Given the description of an element on the screen output the (x, y) to click on. 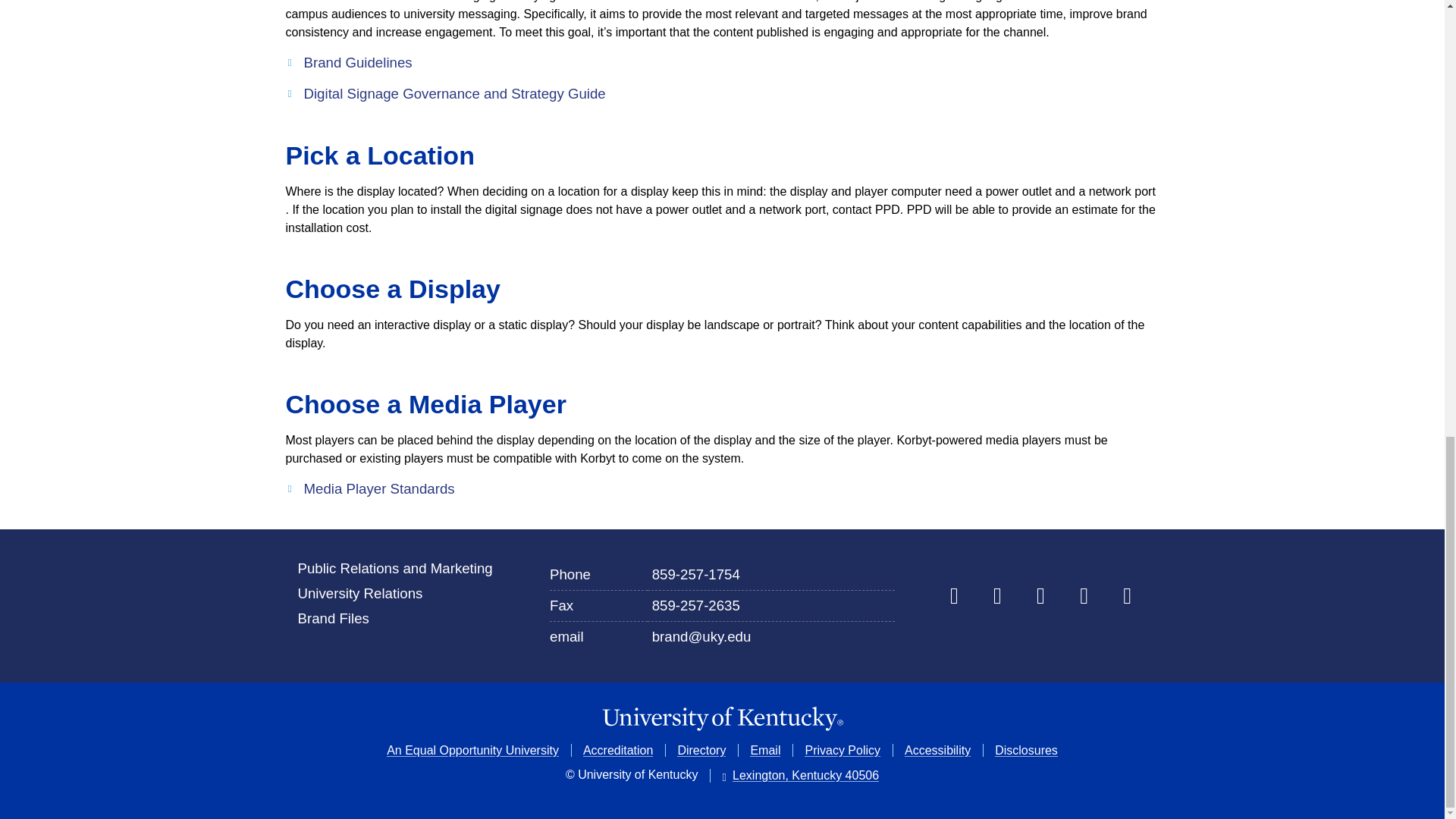
Public Relations and Marketing (394, 568)
Digital Signage Governance and Strategy Guide (445, 94)
Brand Files (332, 618)
Disclosures (1026, 749)
Email (764, 749)
Accessibility (937, 749)
Directory (701, 749)
Privacy Policy (842, 749)
University Relations (359, 593)
Brand Guidelines (348, 63)
Media Player Standards (369, 488)
Lexington, Kentucky 40506 (800, 775)
An Equal Opportunity University (473, 749)
Accreditation (618, 749)
